Given the description of an element on the screen output the (x, y) to click on. 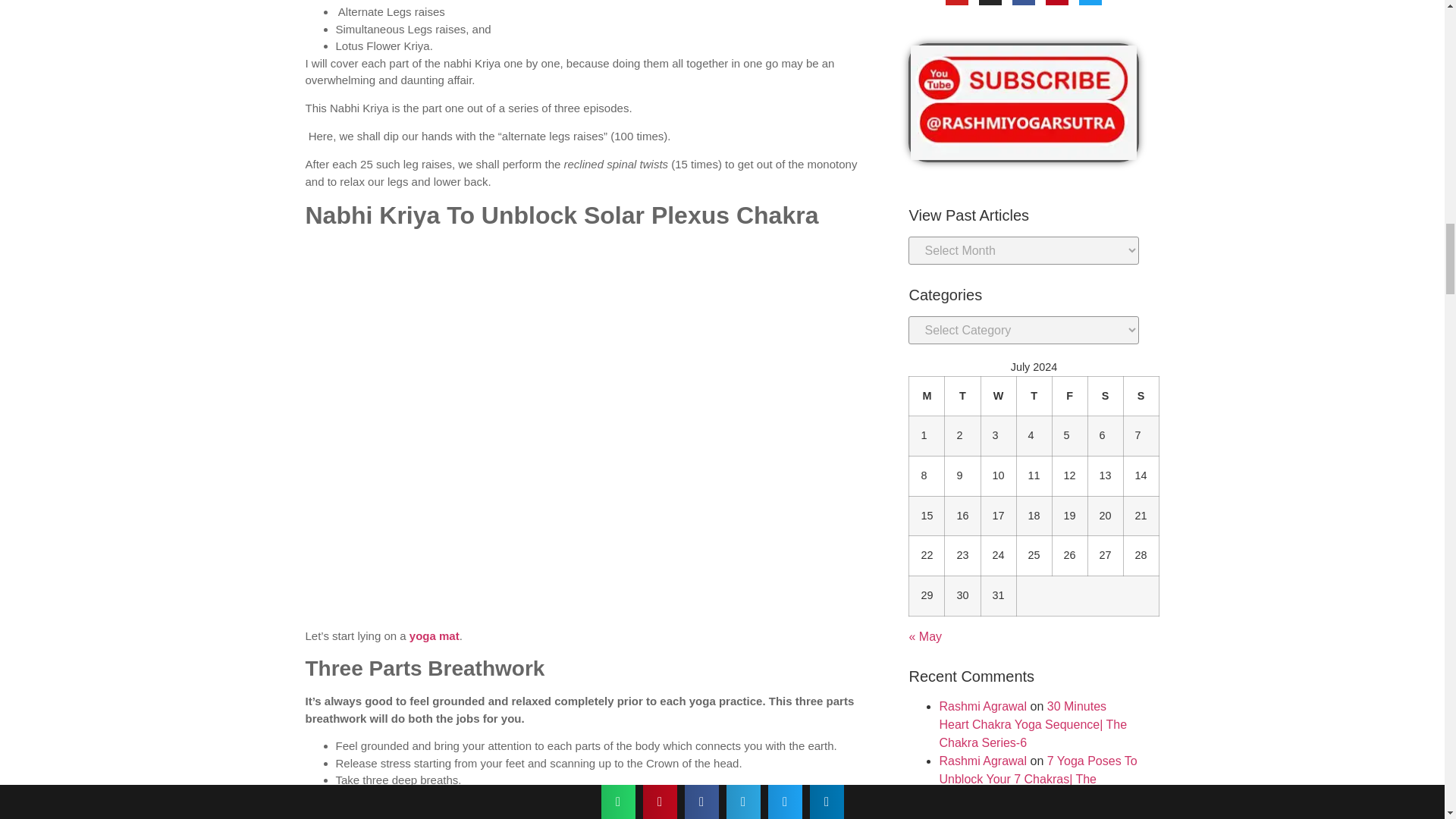
Friday (1069, 395)
Sunday (1140, 395)
Monday (926, 395)
Saturday (1104, 395)
Thursday (1033, 395)
Wednesday (997, 395)
Tuesday (961, 395)
